Given the description of an element on the screen output the (x, y) to click on. 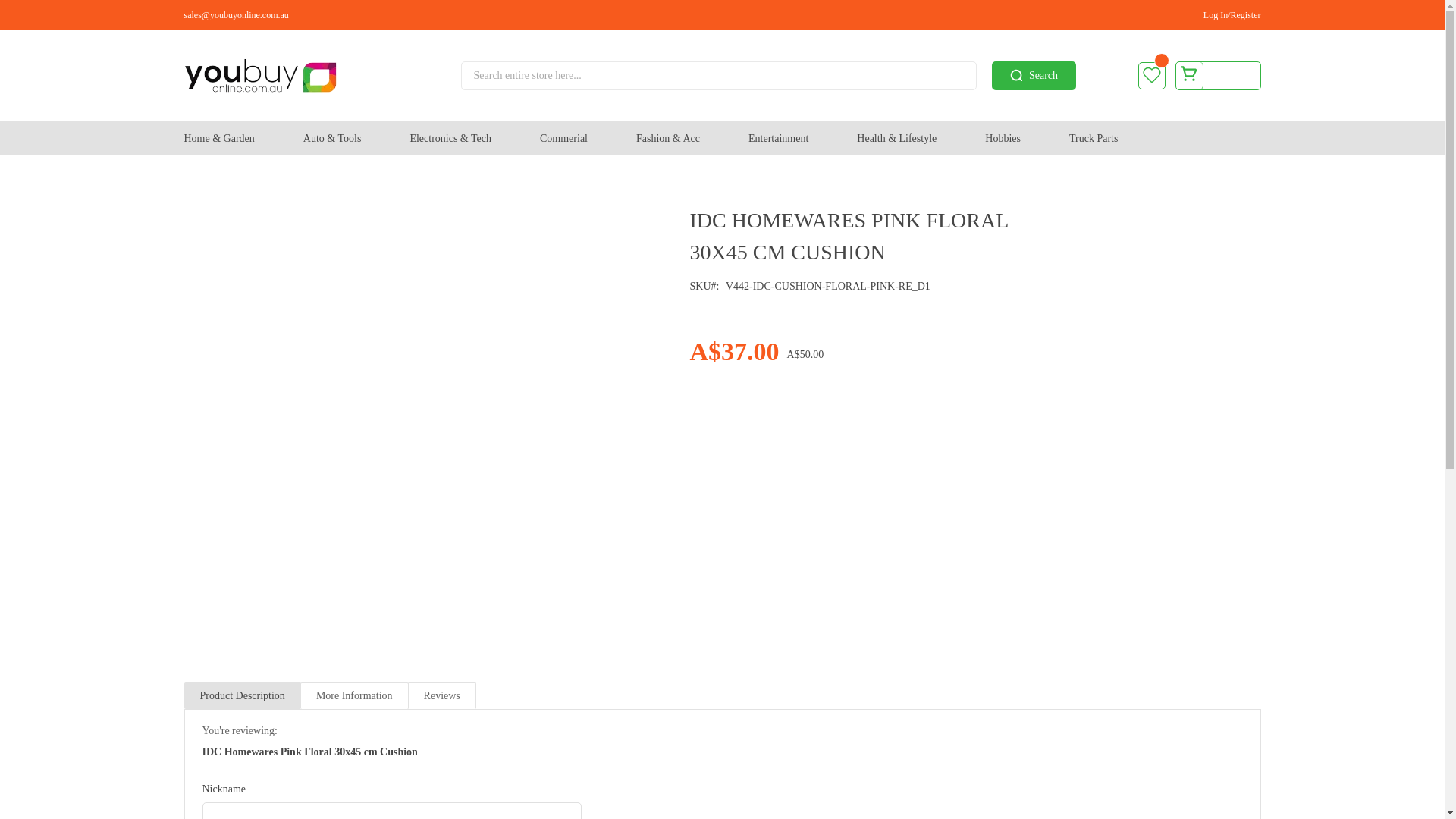
youbuyonline (259, 75)
Register (1245, 14)
Search (1033, 75)
youbuyonline (290, 75)
My Cart (1216, 75)
Search (1033, 75)
Log In (1215, 14)
